Given the description of an element on the screen output the (x, y) to click on. 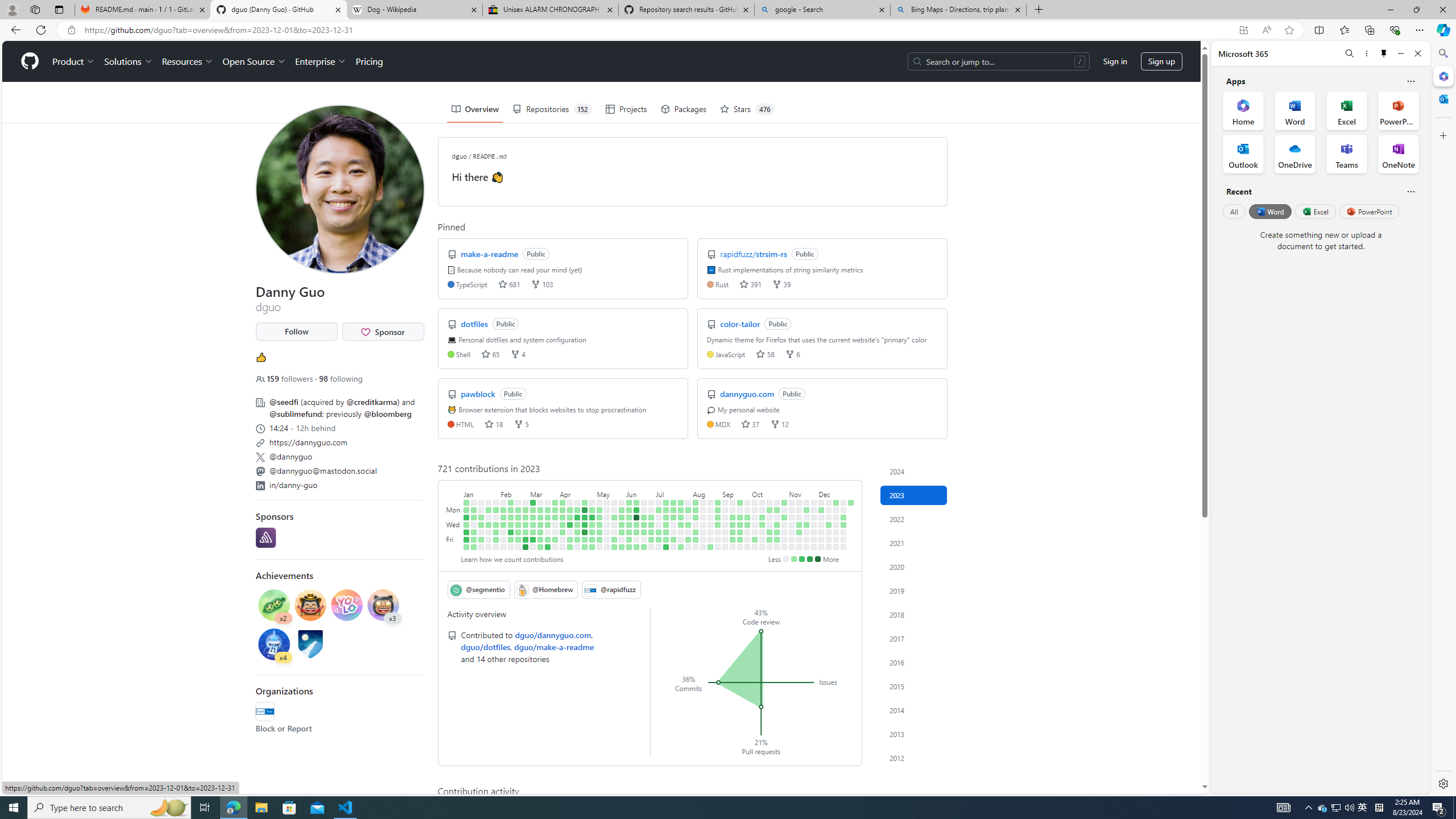
2 contributions on February 27th. (525, 509)
No contributions on November 23rd. (806, 531)
No contributions on March 12th. (540, 502)
No contributions on August 24th. (710, 531)
No contributions on April 22nd. (577, 546)
Unpin side pane (1383, 53)
2022 (913, 519)
Enterprise (319, 60)
forks 5 (520, 423)
No contributions on November 11th. (791, 546)
14 contributions on March 5th. (532, 502)
